Given the description of an element on the screen output the (x, y) to click on. 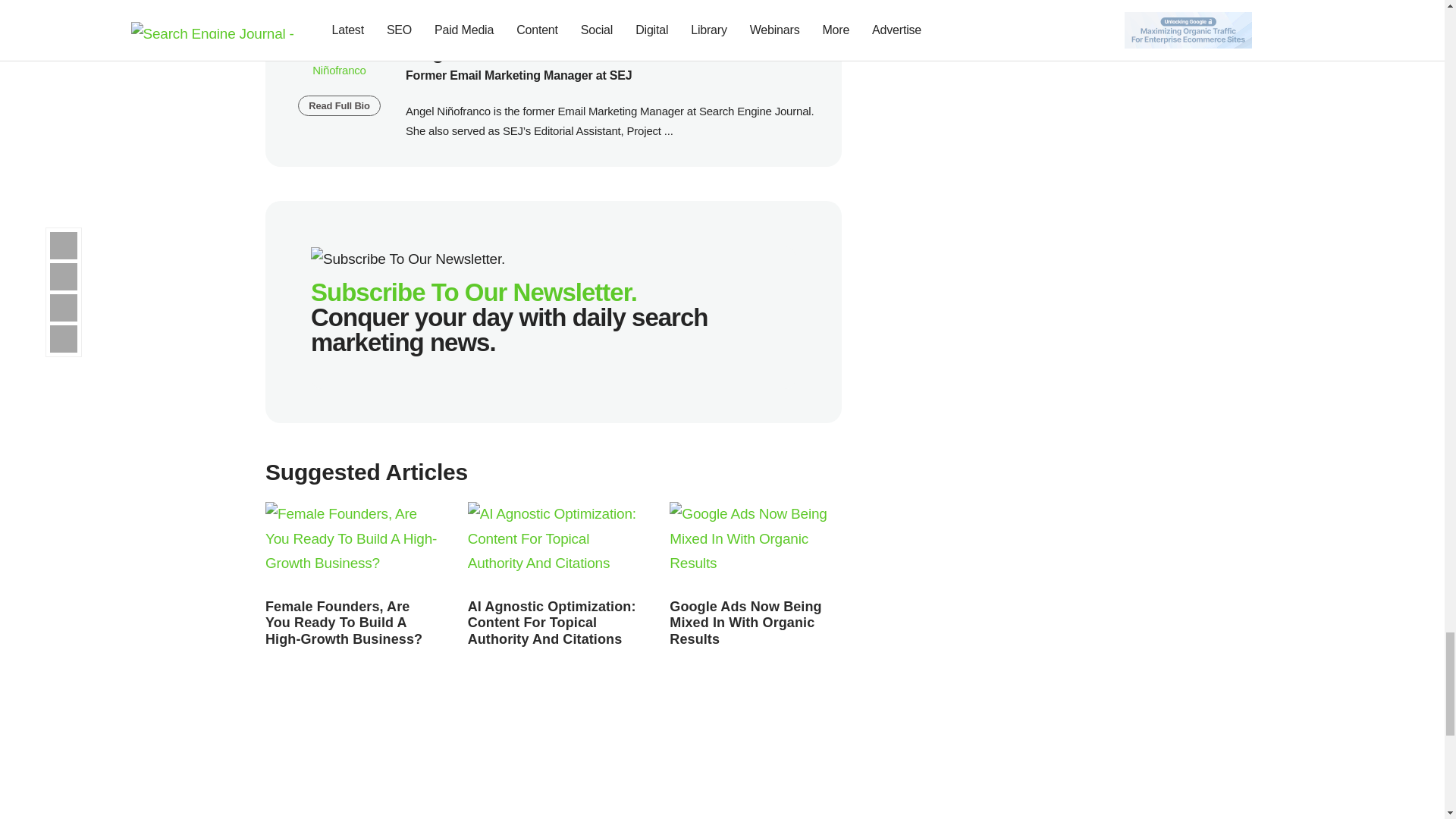
Read the Article (351, 546)
Read the Article (745, 622)
Read the Article (755, 546)
Read the Article (551, 622)
Read the Article (343, 622)
Read the Article (553, 546)
